Given the description of an element on the screen output the (x, y) to click on. 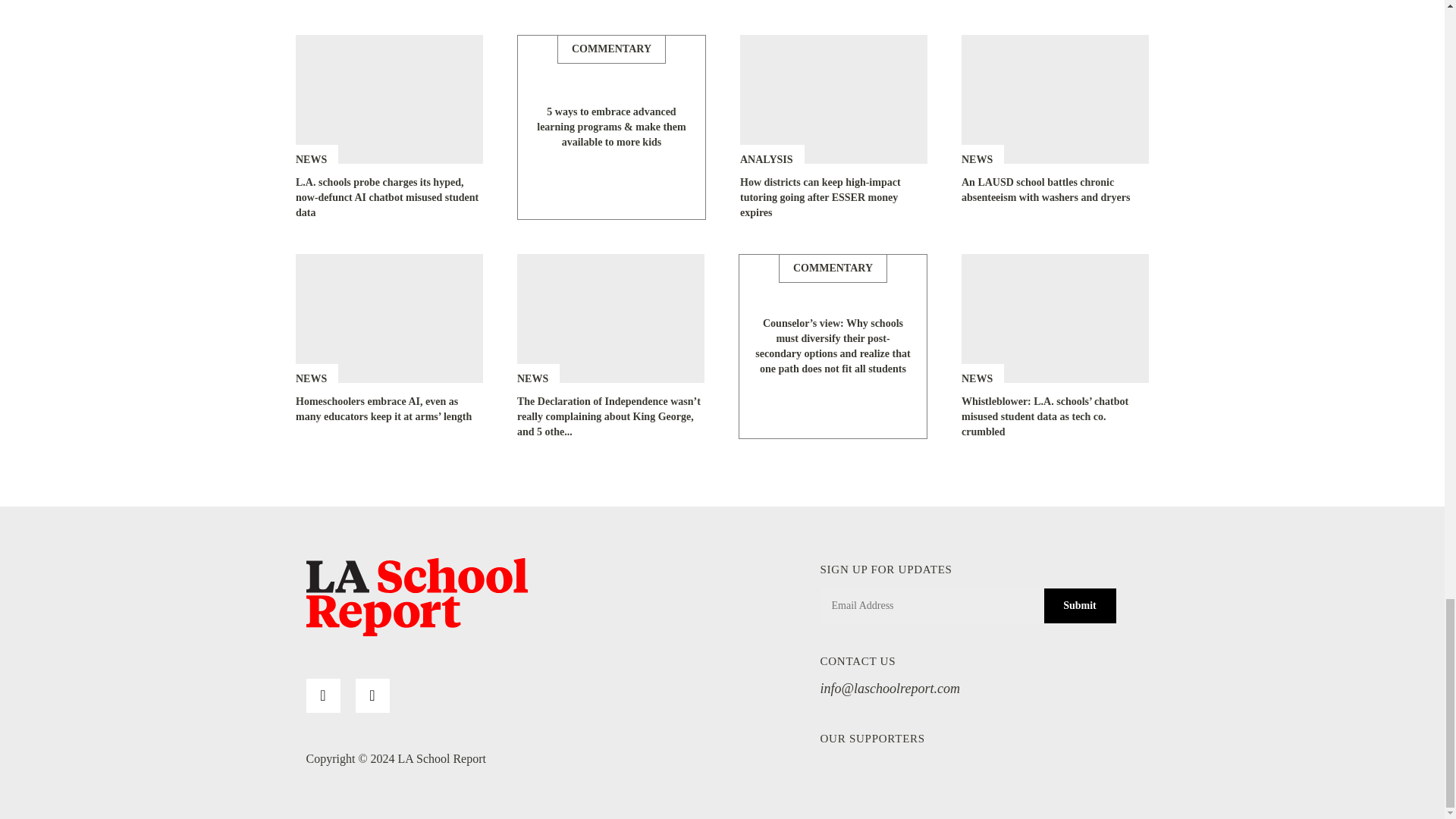
Submit (1079, 605)
